Given the description of an element on the screen output the (x, y) to click on. 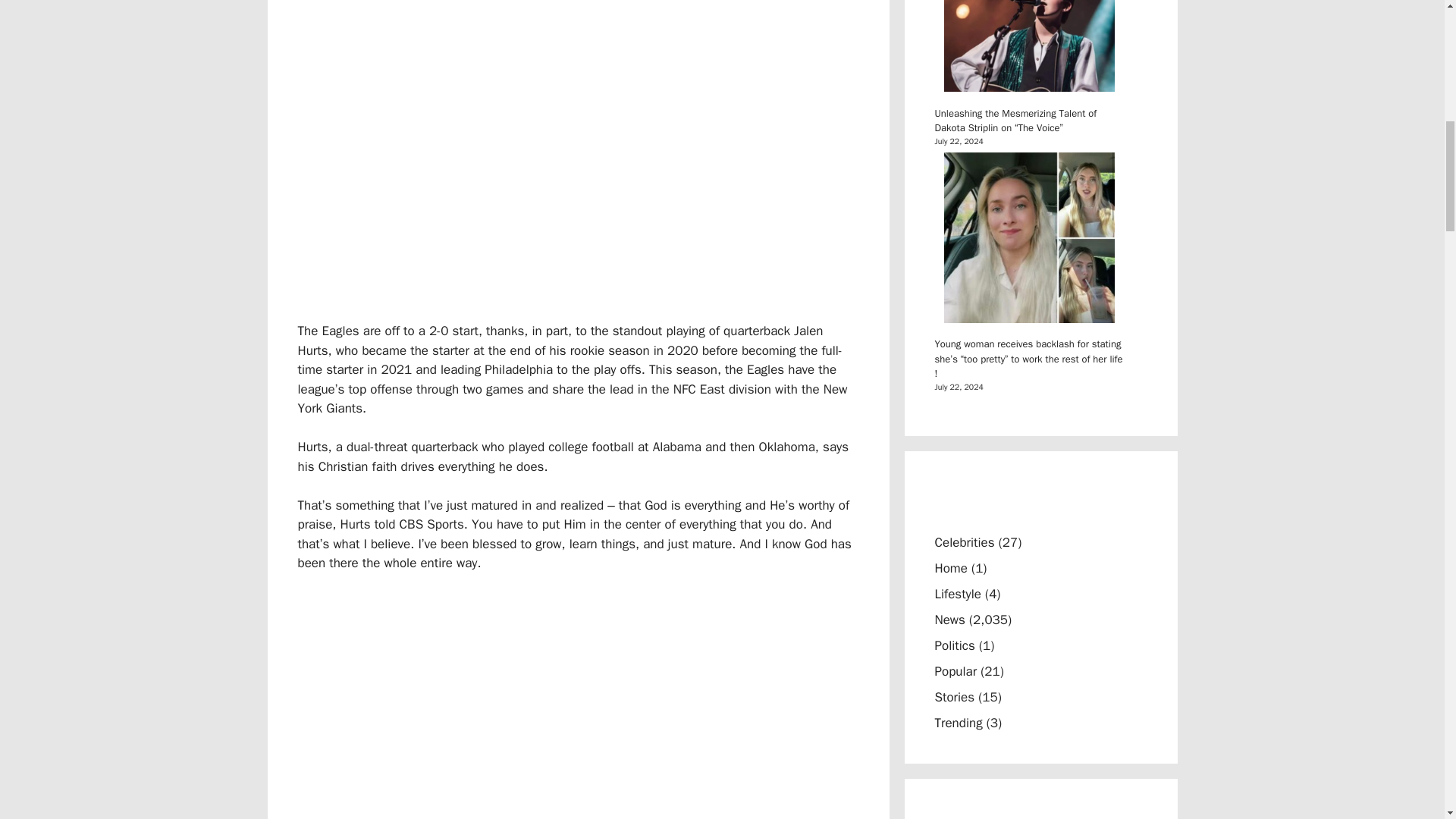
Scroll back to top (1406, 720)
Politics (954, 645)
Popular (955, 671)
News (948, 619)
Home (950, 568)
Celebrities (964, 542)
Trending (957, 722)
Lifestyle (956, 593)
Stories (954, 697)
